Given the description of an element on the screen output the (x, y) to click on. 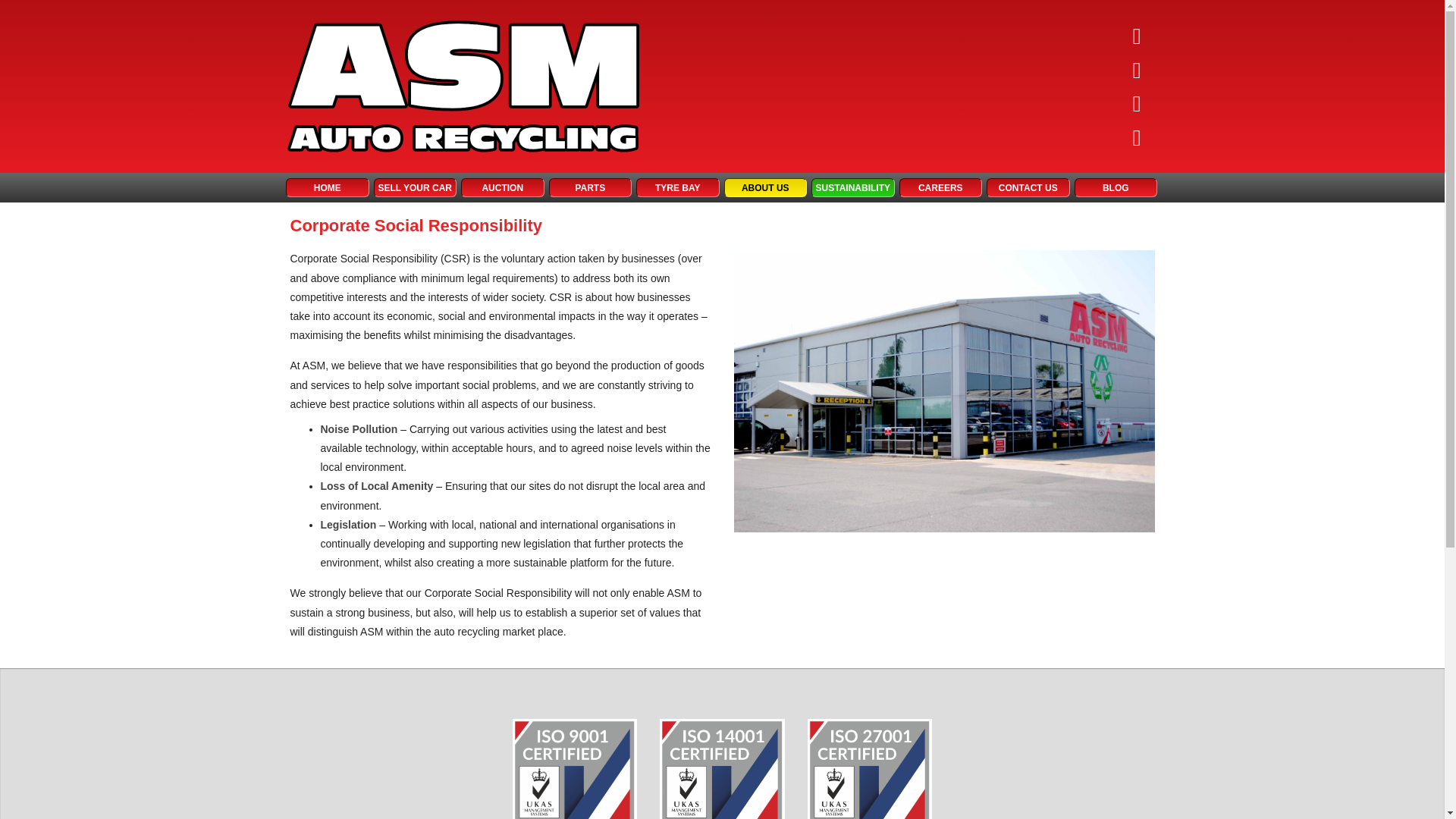
CAREERS (940, 187)
Connect with us on TikTok (1136, 37)
Instagram (1136, 104)
ABOUT US (764, 187)
BLOG (1115, 187)
SUSTAINABILITY (852, 187)
CONTACT US (1028, 187)
ASM building in Thame near Oxford (943, 391)
ISO 27001 Certificate of Information Security (869, 769)
HOME (327, 187)
TYRE BAY (677, 187)
SELL YOUR CAR (414, 187)
Connect with us on Facebook (1136, 71)
Connect with us on Instagram (1136, 104)
Connect with us on LinkedIn (1136, 138)
